Given the description of an element on the screen output the (x, y) to click on. 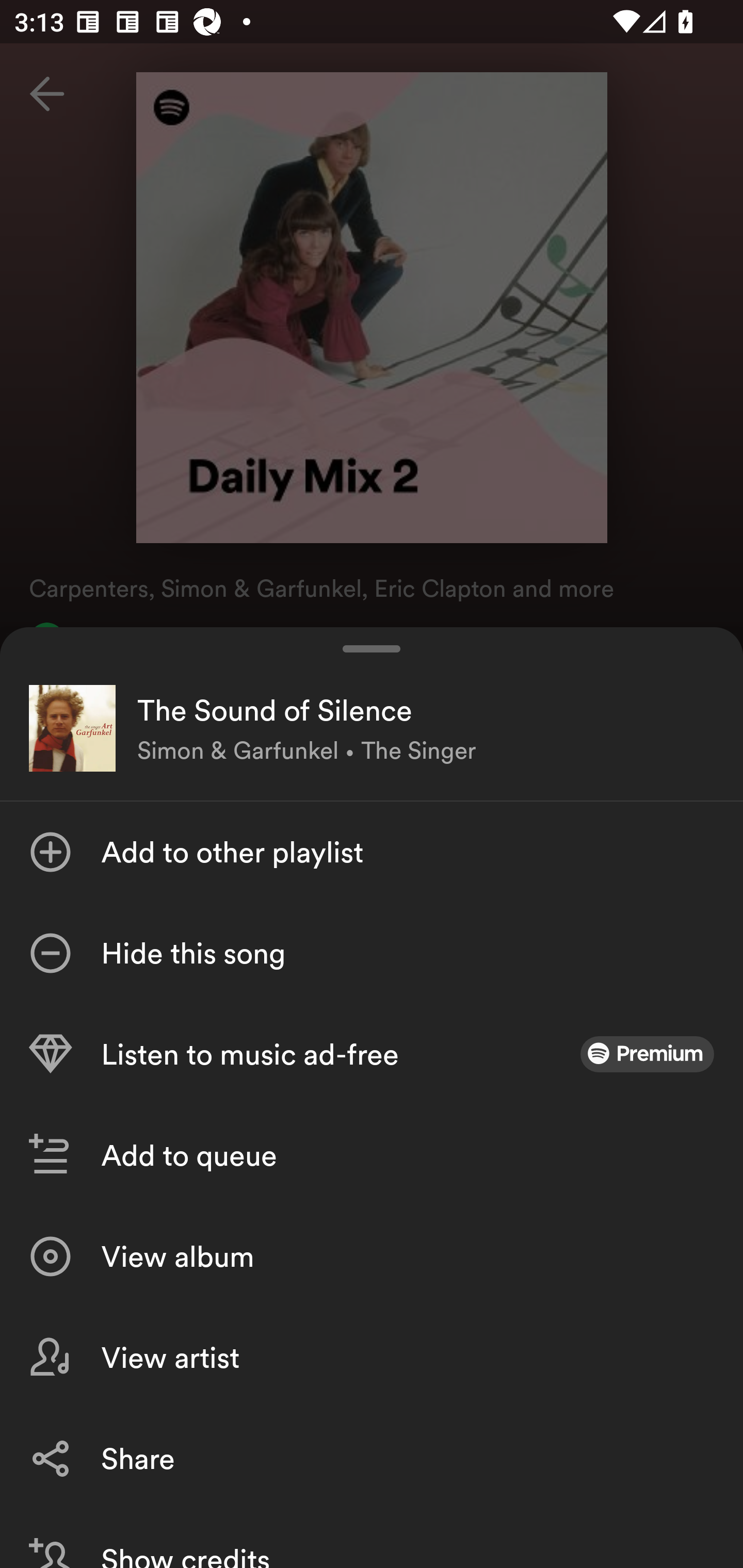
Add to other playlist (371, 852)
Hide this song (371, 953)
Listen to music ad-free (371, 1054)
Add to queue (371, 1155)
View album (371, 1256)
View artist (371, 1357)
Share (371, 1458)
Show credits (371, 1538)
